Given the description of an element on the screen output the (x, y) to click on. 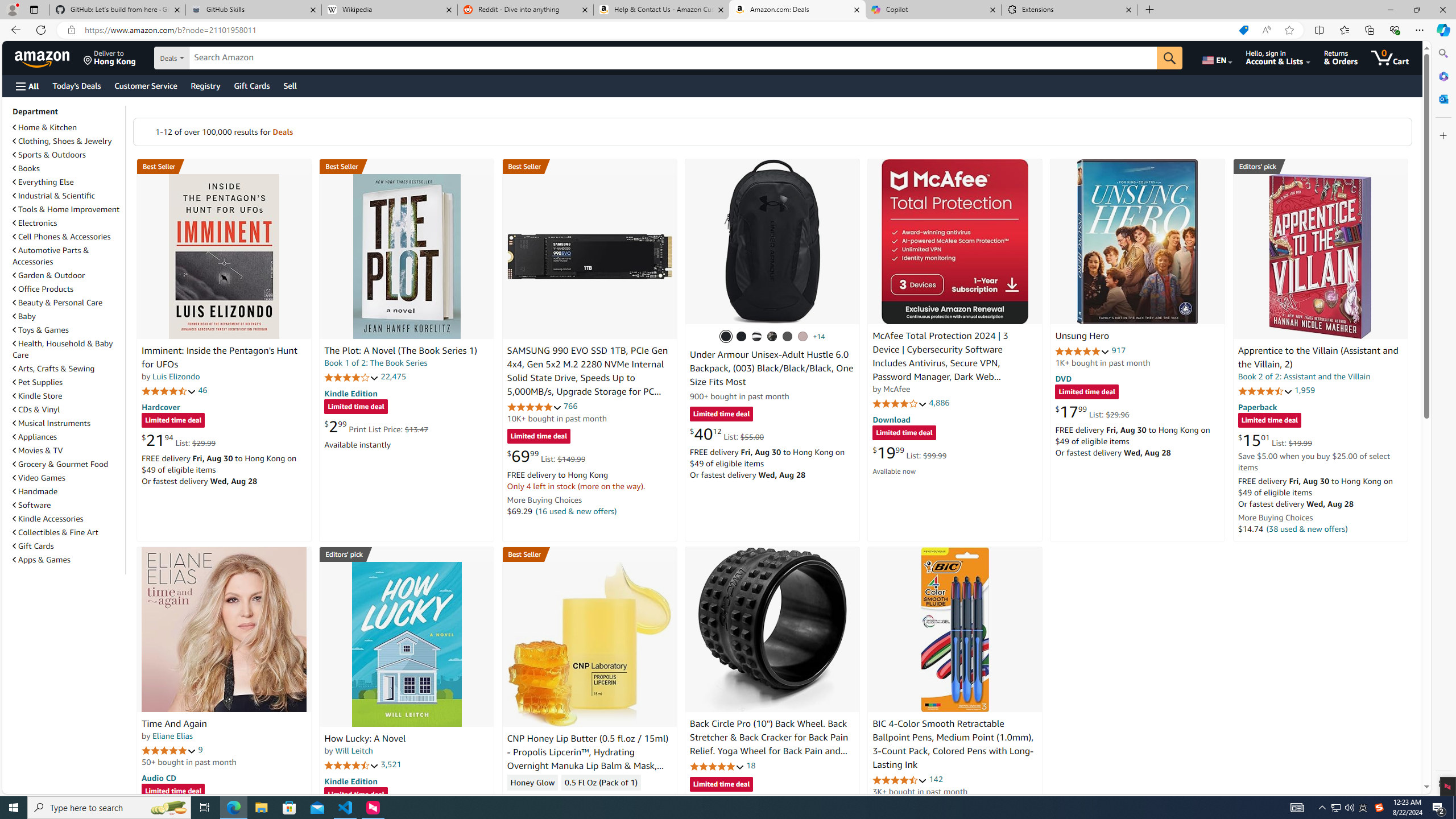
$19.99 List: $99.99 (909, 452)
0 items in cart (1389, 57)
766 (570, 406)
Limited time deal (721, 784)
Industrial & Scientific (67, 195)
Video Games (67, 477)
3,521 (390, 764)
Choose a language for shopping. (1216, 57)
Handmade (35, 491)
Imminent: Inside the Pentagon's Hunt for UFOs (219, 358)
Wikipedia (390, 9)
